Given the description of an element on the screen output the (x, y) to click on. 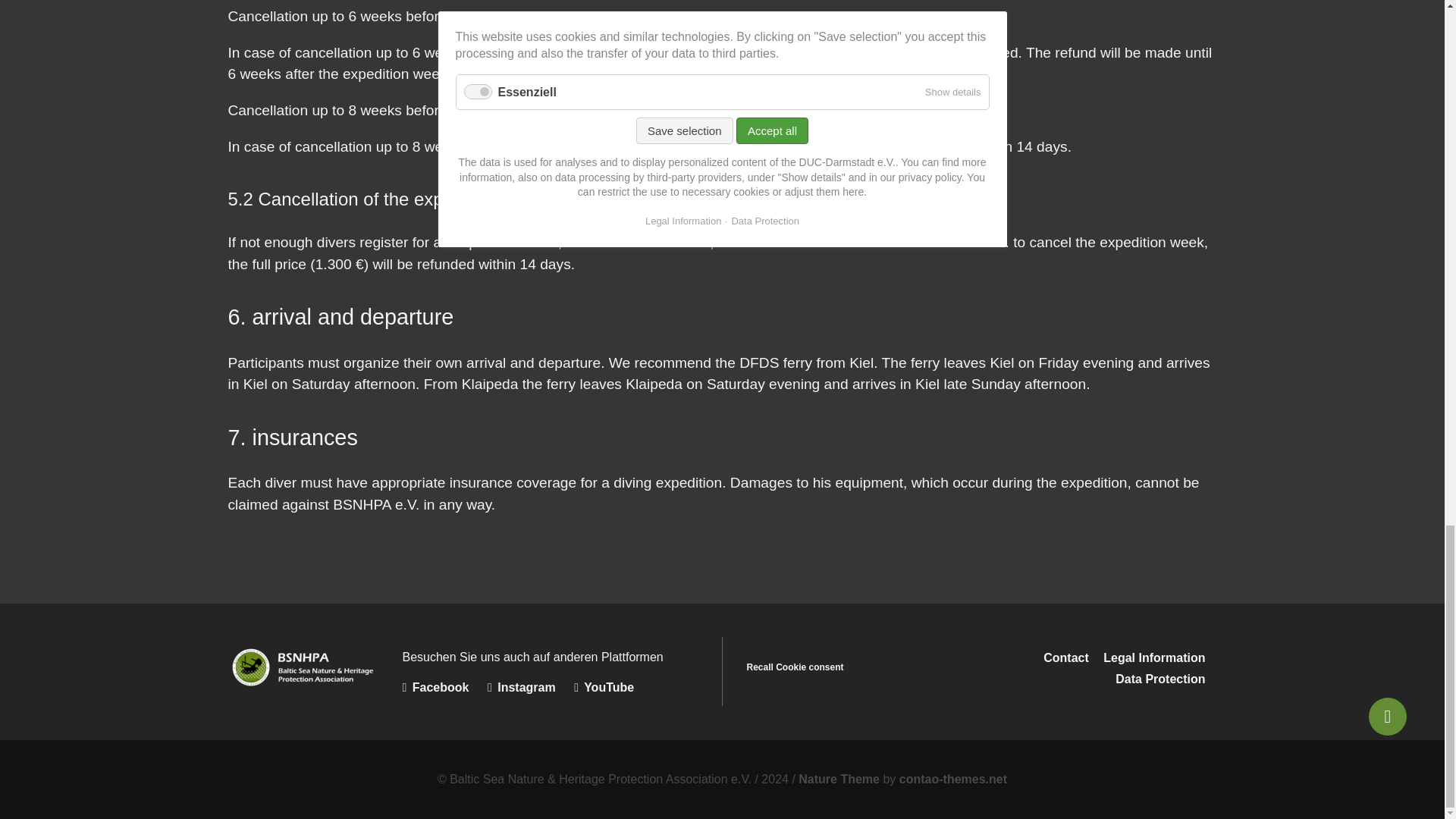
Nature Theme (838, 779)
Recall Cookie consent (794, 666)
Instagram (530, 686)
Contact (1066, 657)
Instagram (530, 686)
Recall Cookie consent (794, 666)
YouTube (611, 686)
YouTube (611, 686)
Legal Information (1154, 657)
Data Protection (1160, 678)
Contact (1066, 657)
contao-themes.net (953, 779)
Facebook (443, 686)
Facebook (443, 686)
